Given the description of an element on the screen output the (x, y) to click on. 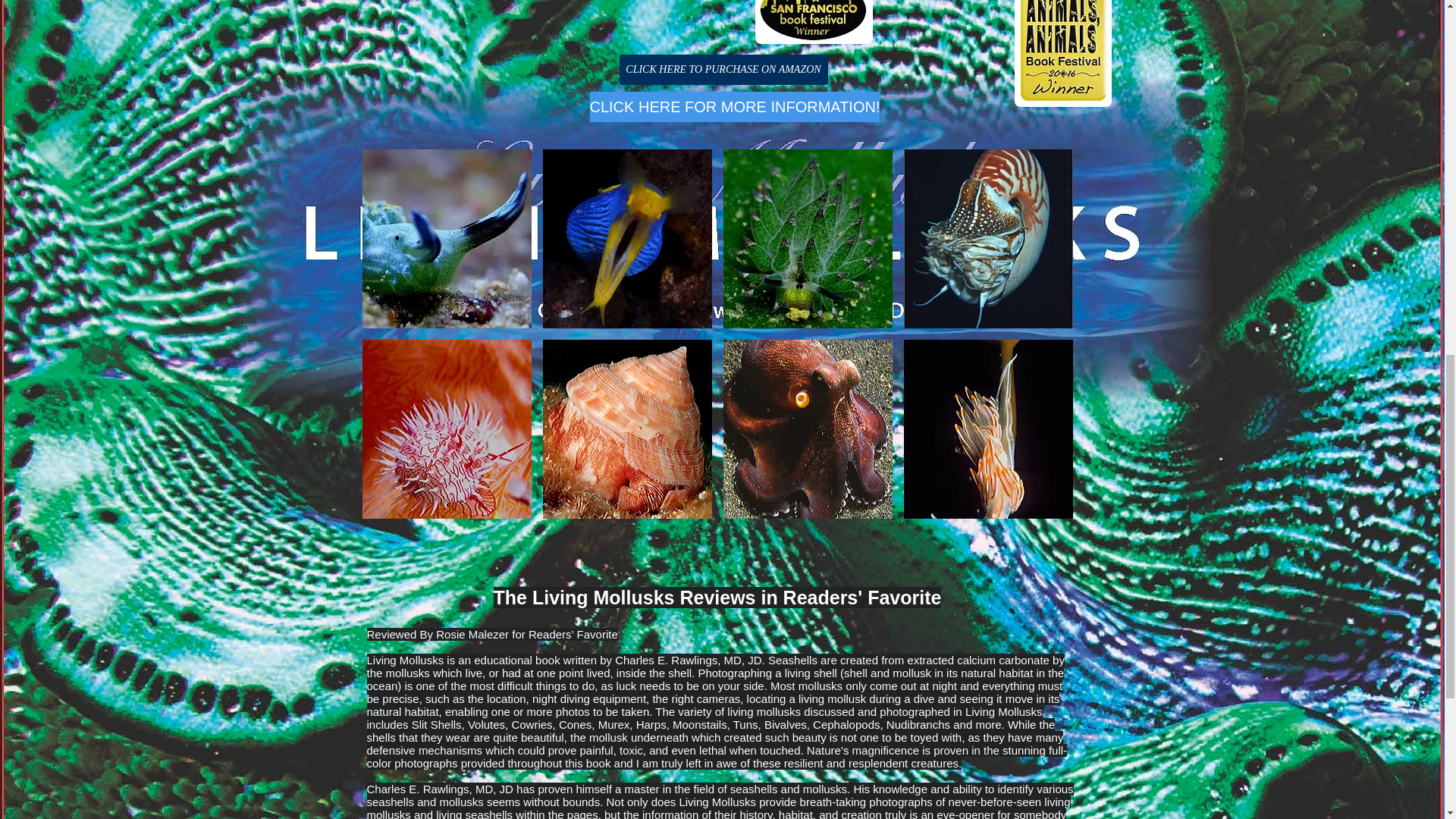
Animals.Digital.Win.2016.web.jpg (1063, 53)
SFBF.dig.2016.Win.web.jpg (813, 22)
CLICK HERE TO PURCHASE ON AMAZON (722, 69)
CLICK HERE FOR MORE INFORMATION! (734, 106)
